Given the description of an element on the screen output the (x, y) to click on. 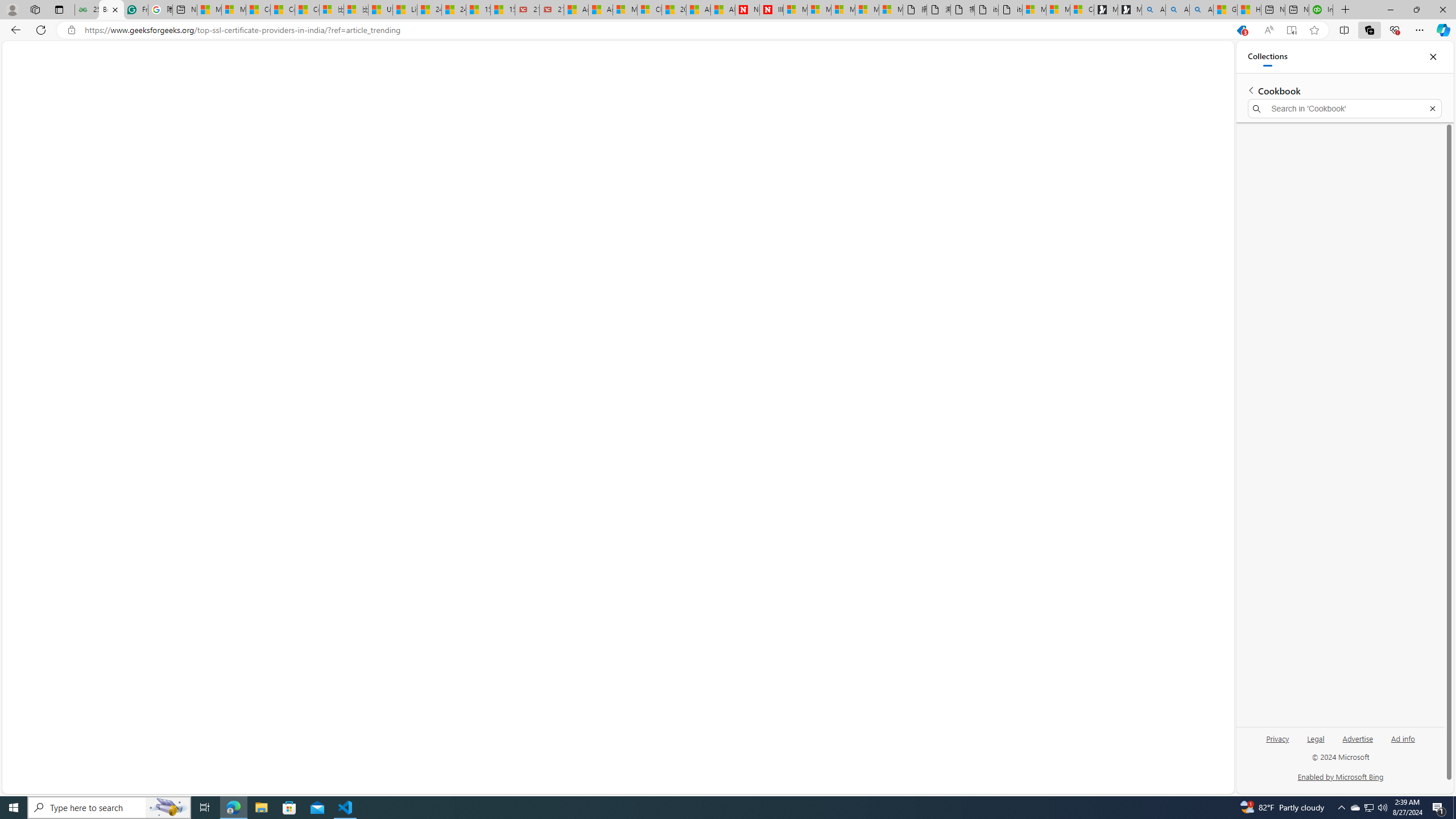
Blogs (116, 79)
20 Ways to Boost Your Protein Intake at Every Meal (673, 9)
21 Movies That Outdid the Books They Were Based On (551, 9)
ChatGPT Tutorial (592, 79)
Best SSL Certificates Provider in India (1125, 153)
Tech News (432, 80)
Lifestyle - MSN (404, 9)
Search in 'Cookbook' (1345, 108)
Best-SSL-Certificates-Provider-in-India (710, 324)
